Given the description of an element on the screen output the (x, y) to click on. 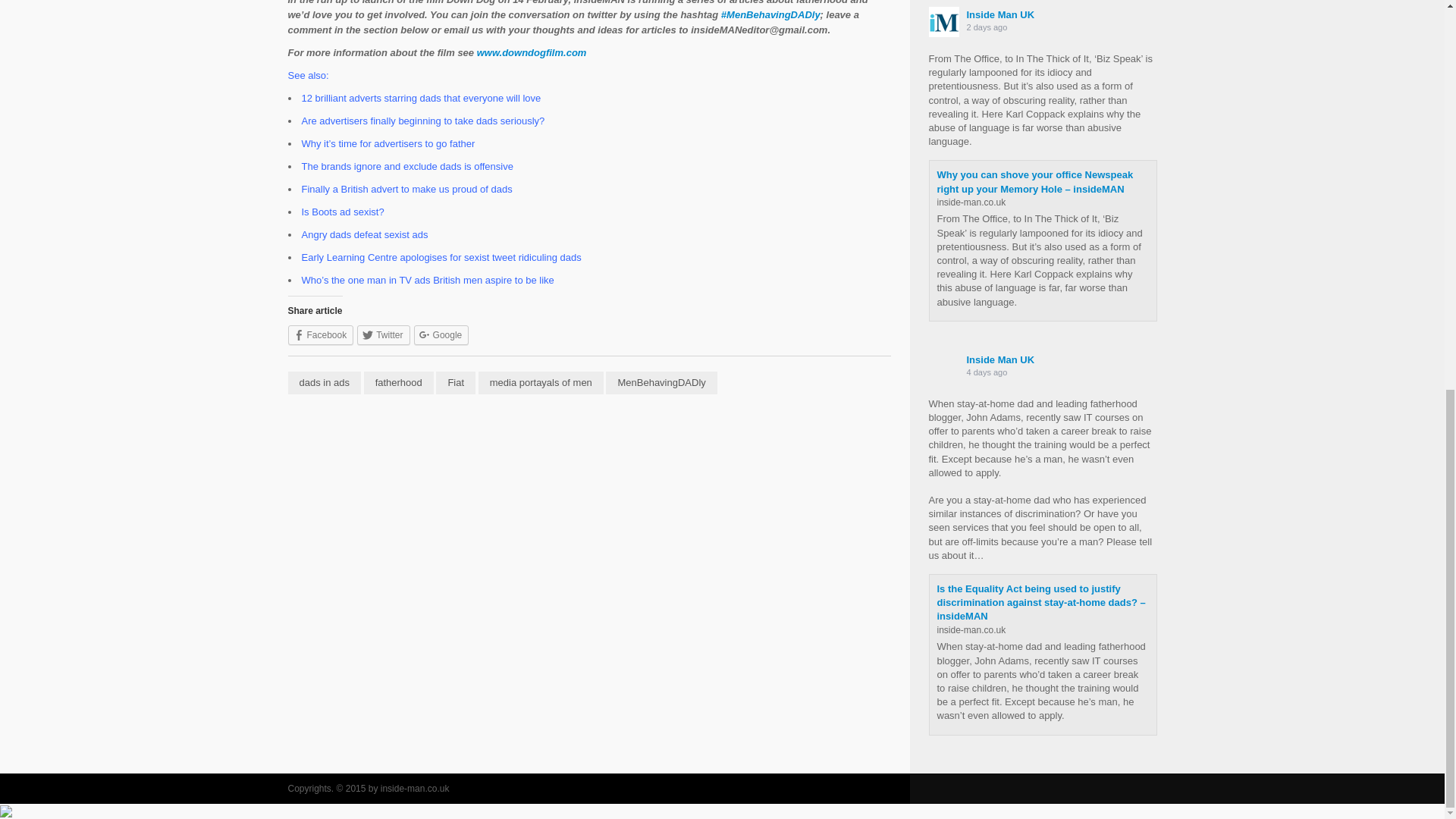
Angry dads defeat sexist ads  (365, 234)
Finally a British advert to make us proud of dads (406, 188)
Is Boots ad sexist? (342, 211)
12 brilliant adverts starring dads that everyone will love (421, 98)
Are advertisers finally beginning to take dads seriously? (422, 120)
Inside Man UK on Facebook (996, 21)
Twitter (382, 334)
Facebook (320, 334)
The brands ignore and exclude dads is offensive (407, 165)
